Given the description of an element on the screen output the (x, y) to click on. 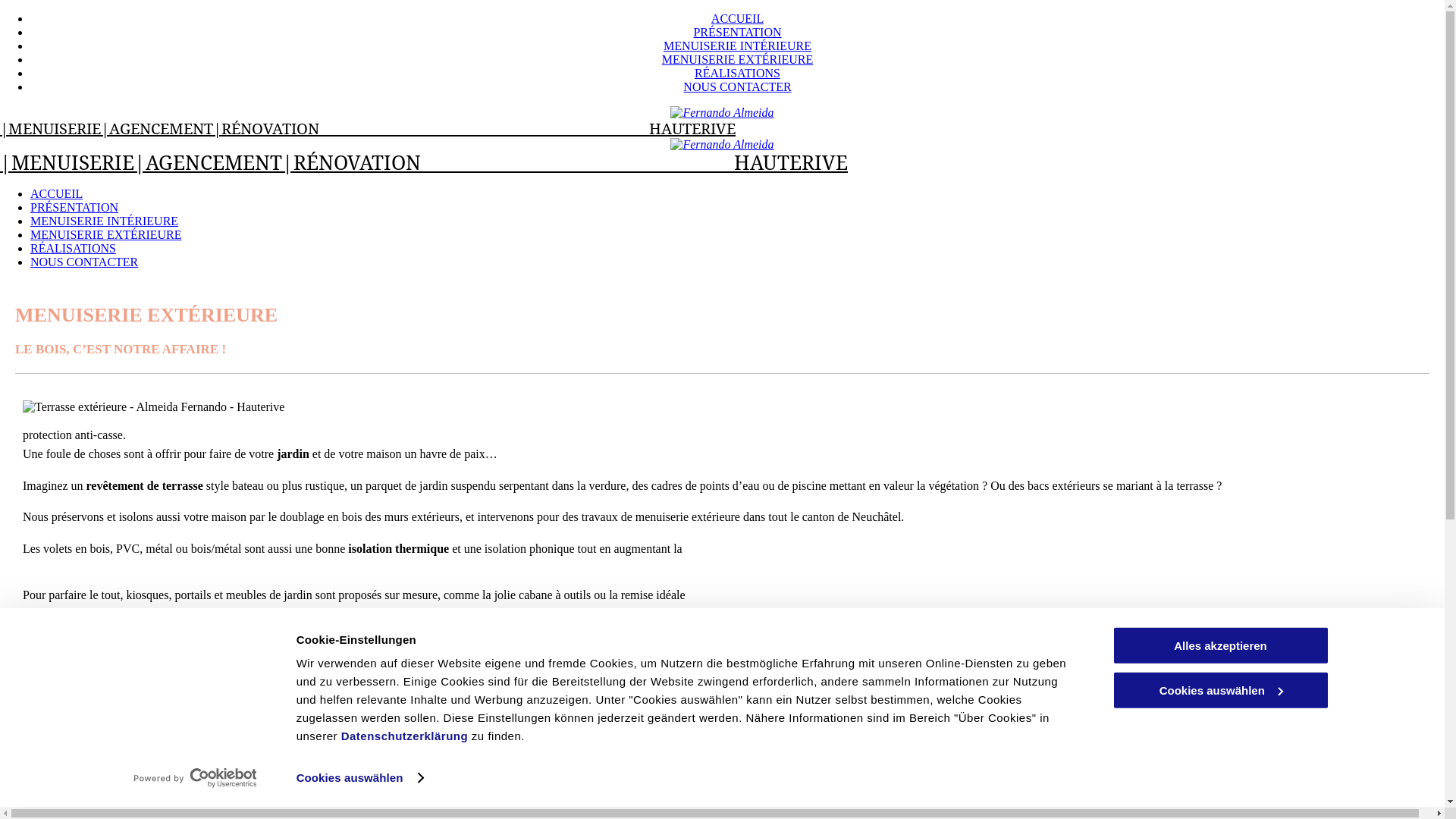
NOUS CONTACTER Element type: text (736, 86)
travaux de menuiserie Element type: text (374, 624)
ACCUEIL Element type: text (737, 18)
NOUS CONTACTER Element type: text (84, 261)
Alles akzeptieren Element type: text (1219, 645)
ACCUEIL Element type: text (56, 193)
